Given the description of an element on the screen output the (x, y) to click on. 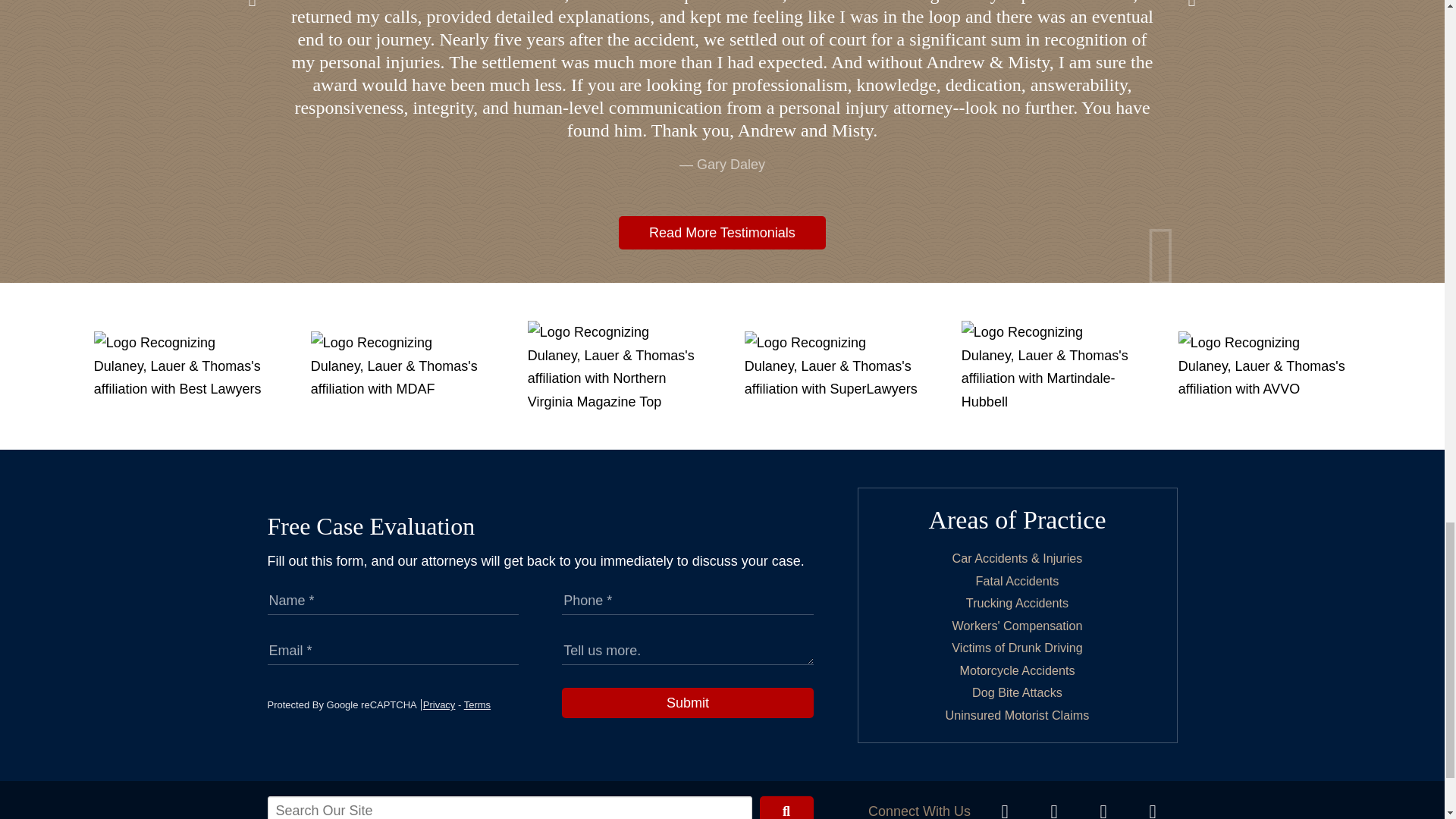
Search (786, 807)
